Given the description of an element on the screen output the (x, y) to click on. 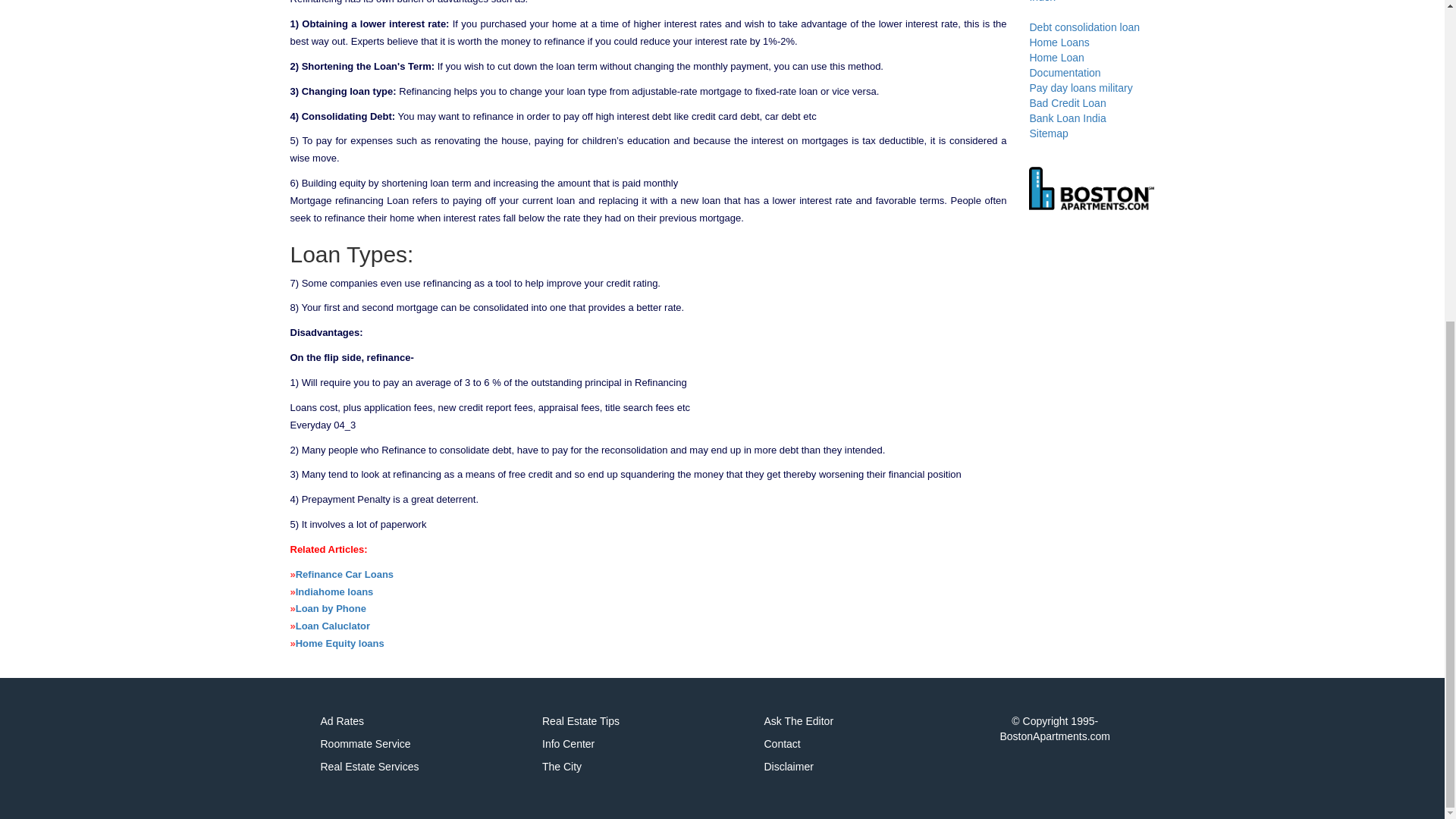
Debt consolidation loan (1084, 27)
Indiahome loans (334, 591)
Home Loan Documentation (1064, 64)
Loan Caluclator (332, 625)
Disclaimer (788, 766)
Bank Loan India (1067, 118)
Real Estate Services (369, 766)
Pay day loans military (1080, 87)
Sitemap (1048, 133)
Index (1041, 1)
